Given the description of an element on the screen output the (x, y) to click on. 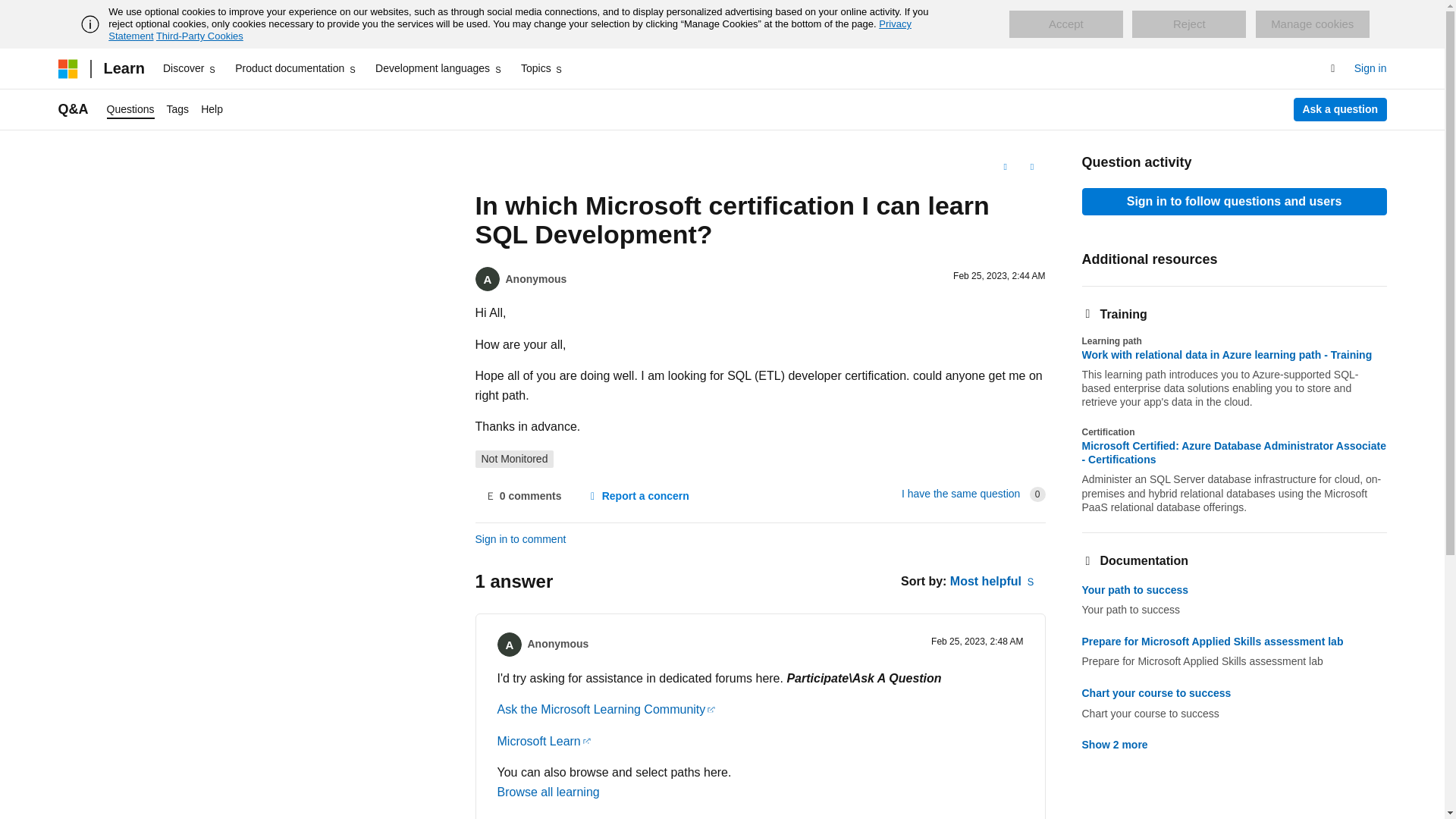
Privacy Statement (509, 29)
Product documentation (295, 68)
Topics (542, 68)
Discover (189, 68)
Report a concern (637, 496)
Learn (123, 68)
Accept (1065, 23)
Sign in (1370, 68)
Third-Party Cookies (199, 35)
No comments (522, 496)
